Given the description of an element on the screen output the (x, y) to click on. 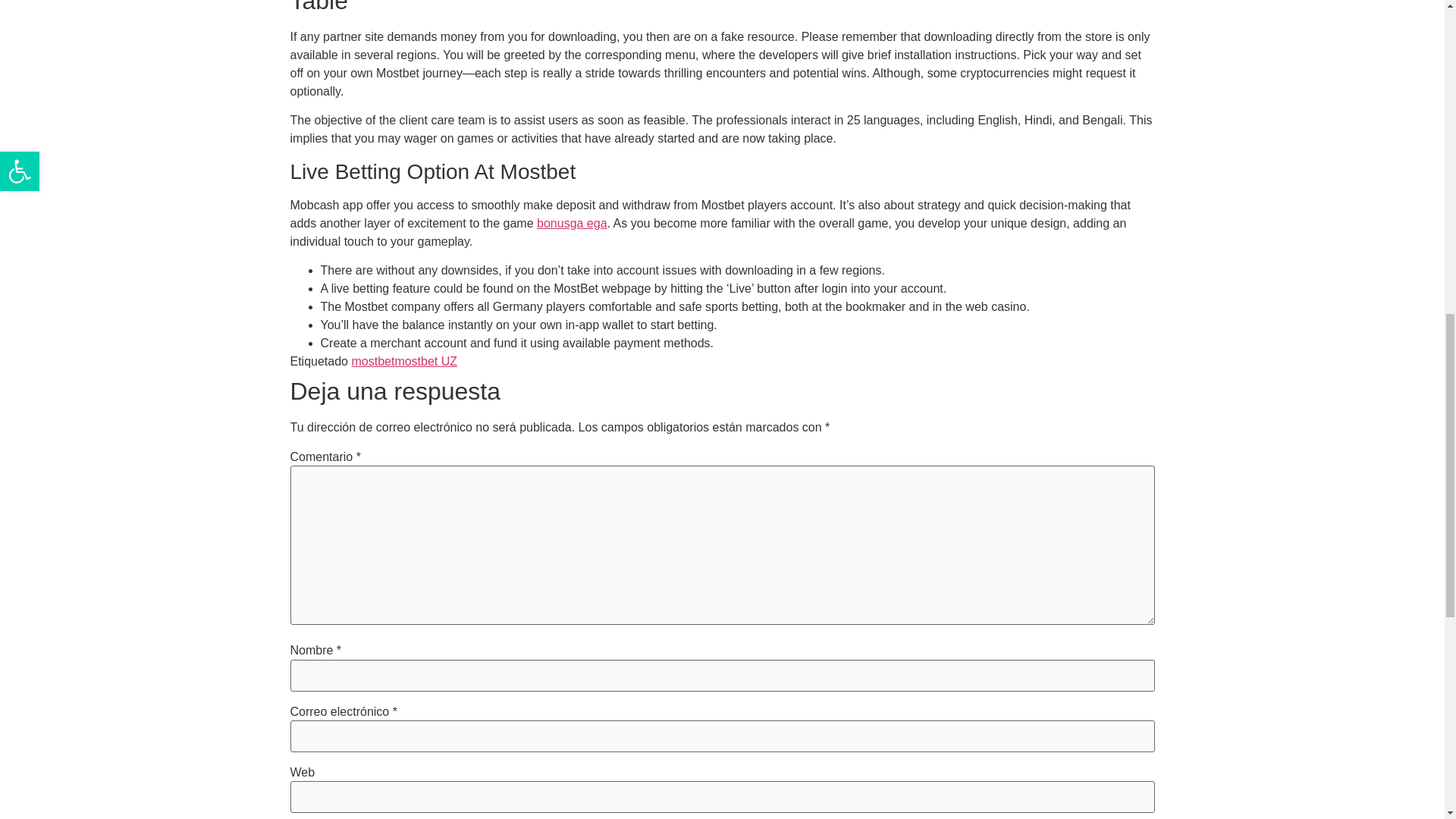
mostbet UZ (425, 360)
mostbet (372, 360)
bonusga ega (572, 223)
